Given the description of an element on the screen output the (x, y) to click on. 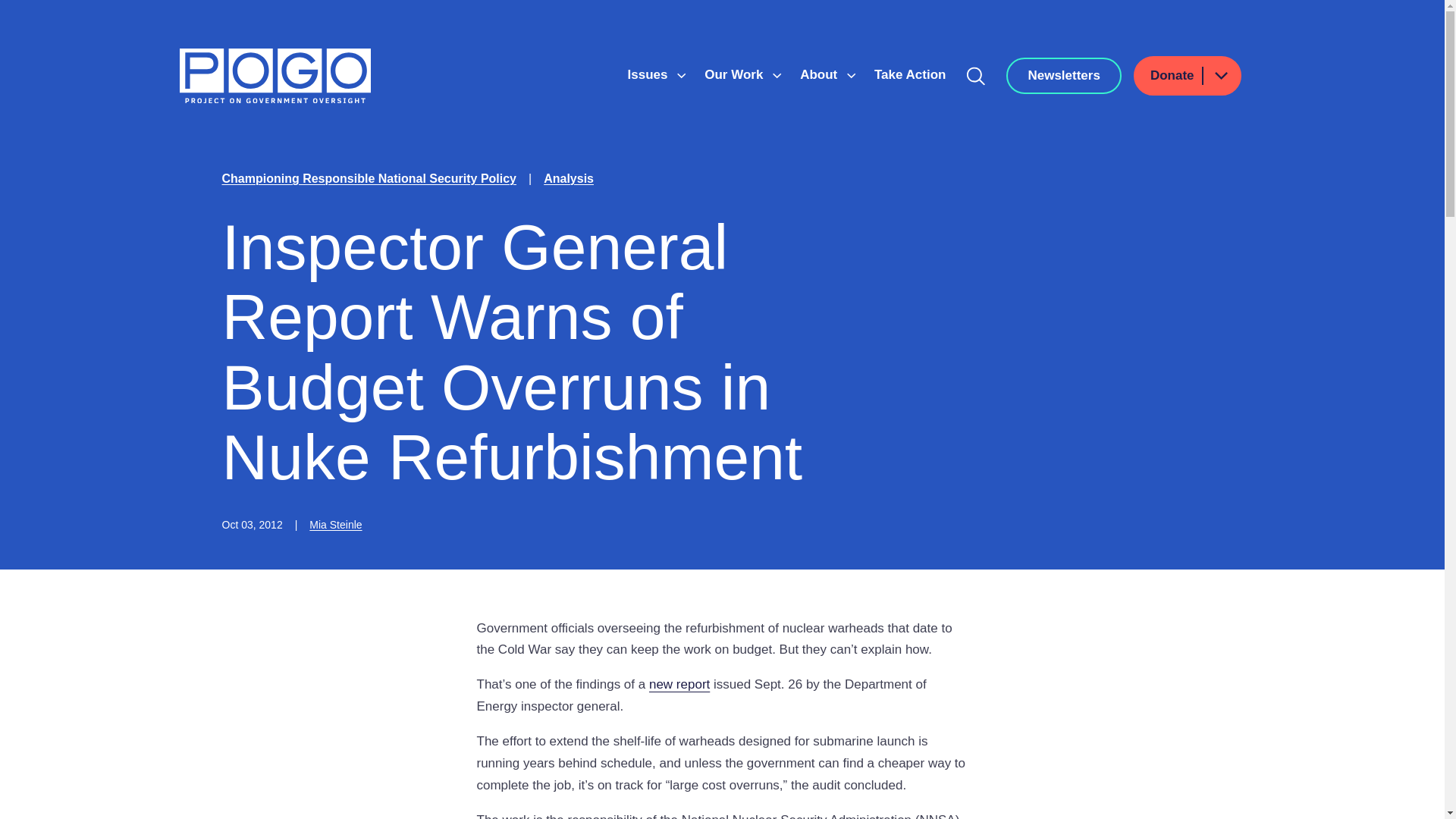
Home (274, 75)
Show submenu for Issues (681, 75)
Show submenu for Our Work (777, 75)
Show submenu for Donate (1220, 75)
Donate (1187, 75)
Newsletters (1063, 75)
Take Action (909, 74)
Our Work (735, 74)
Search (976, 75)
Show submenu for About (851, 75)
